Given the description of an element on the screen output the (x, y) to click on. 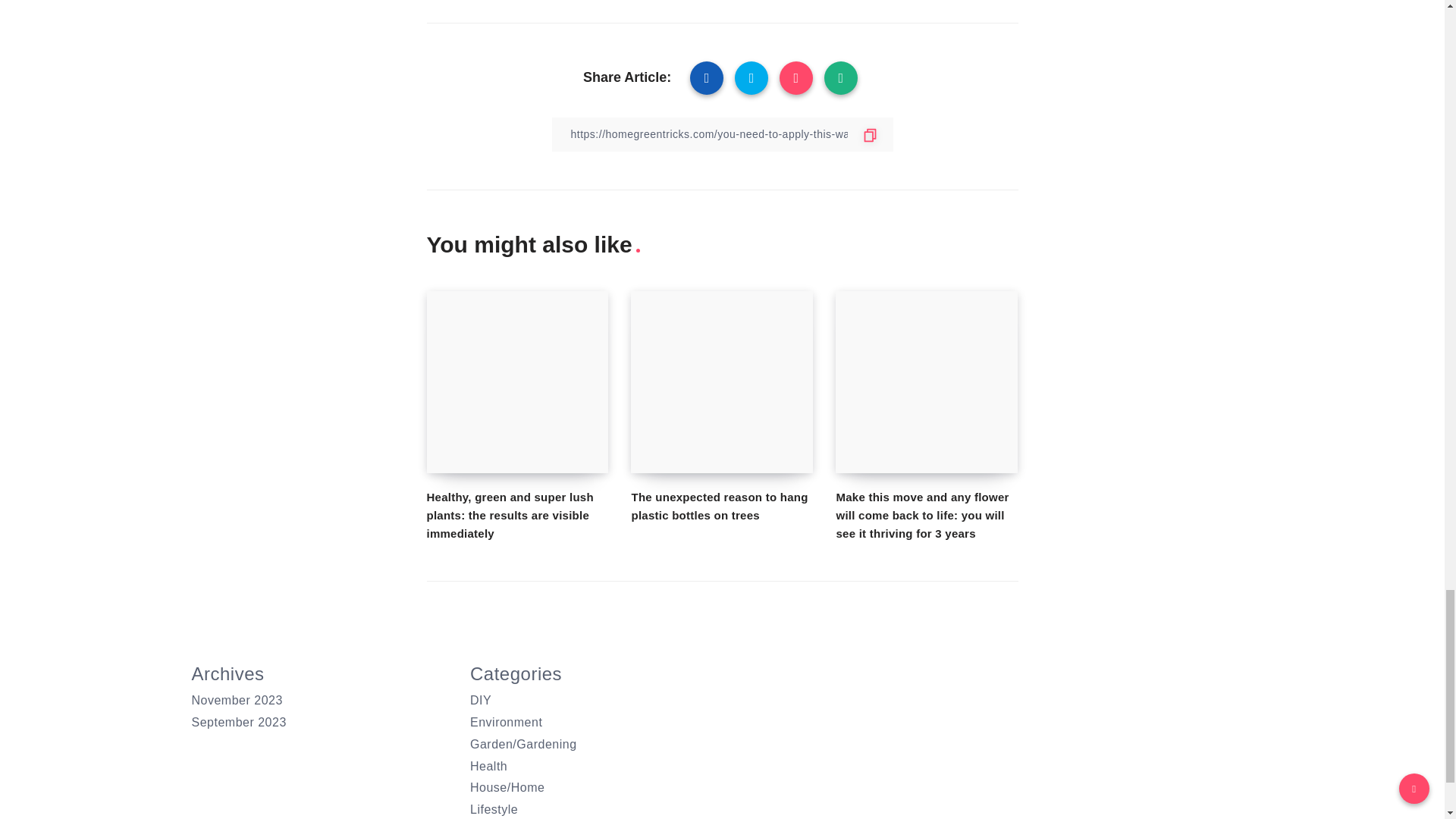
The unexpected reason to hang plastic bottles on trees (719, 505)
Lifestyle (494, 809)
November 2023 (236, 699)
September 2023 (237, 721)
DIY (481, 699)
Environment (505, 721)
Health (488, 766)
